Given the description of an element on the screen output the (x, y) to click on. 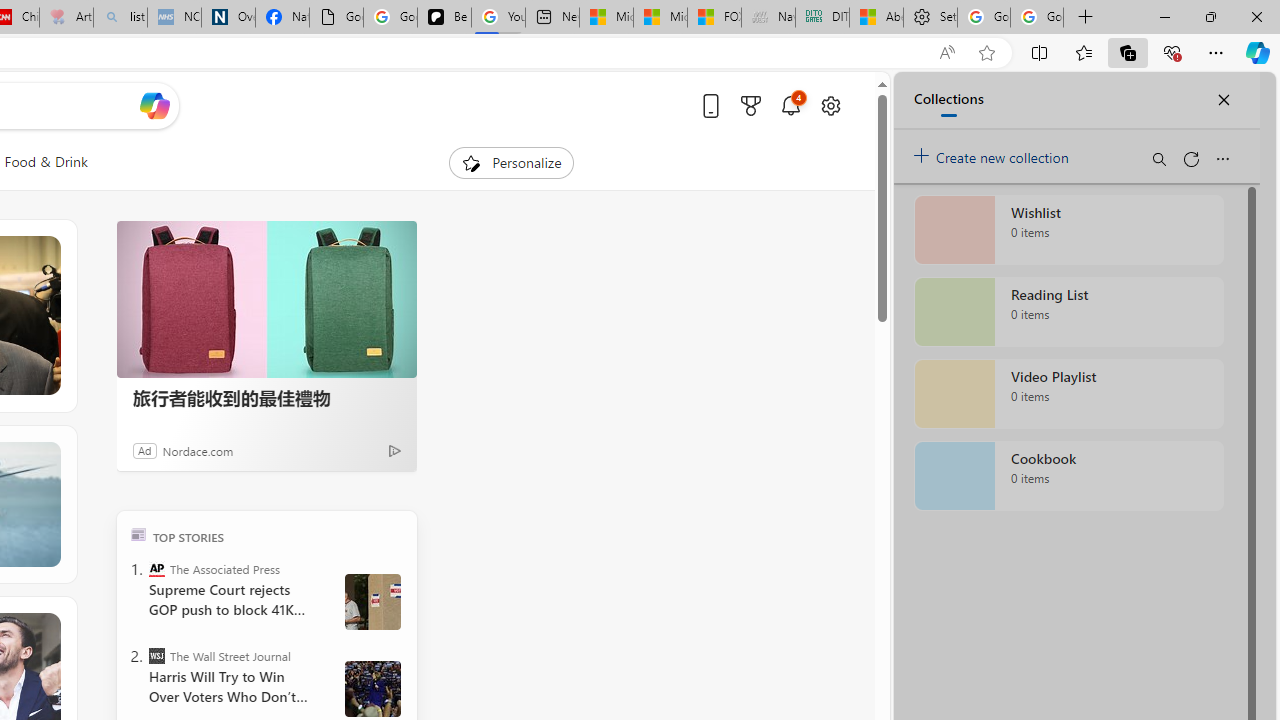
Nordace.com (198, 450)
The Wall Street Journal (156, 655)
TOP (138, 534)
Be Smart | creating Science videos | Patreon (444, 17)
Ad Choice (394, 449)
Arthritis: Ask Health Professionals - Sleeping (66, 17)
Google Analytics Opt-out Browser Add-on Download Page (336, 17)
